Given the description of an element on the screen output the (x, y) to click on. 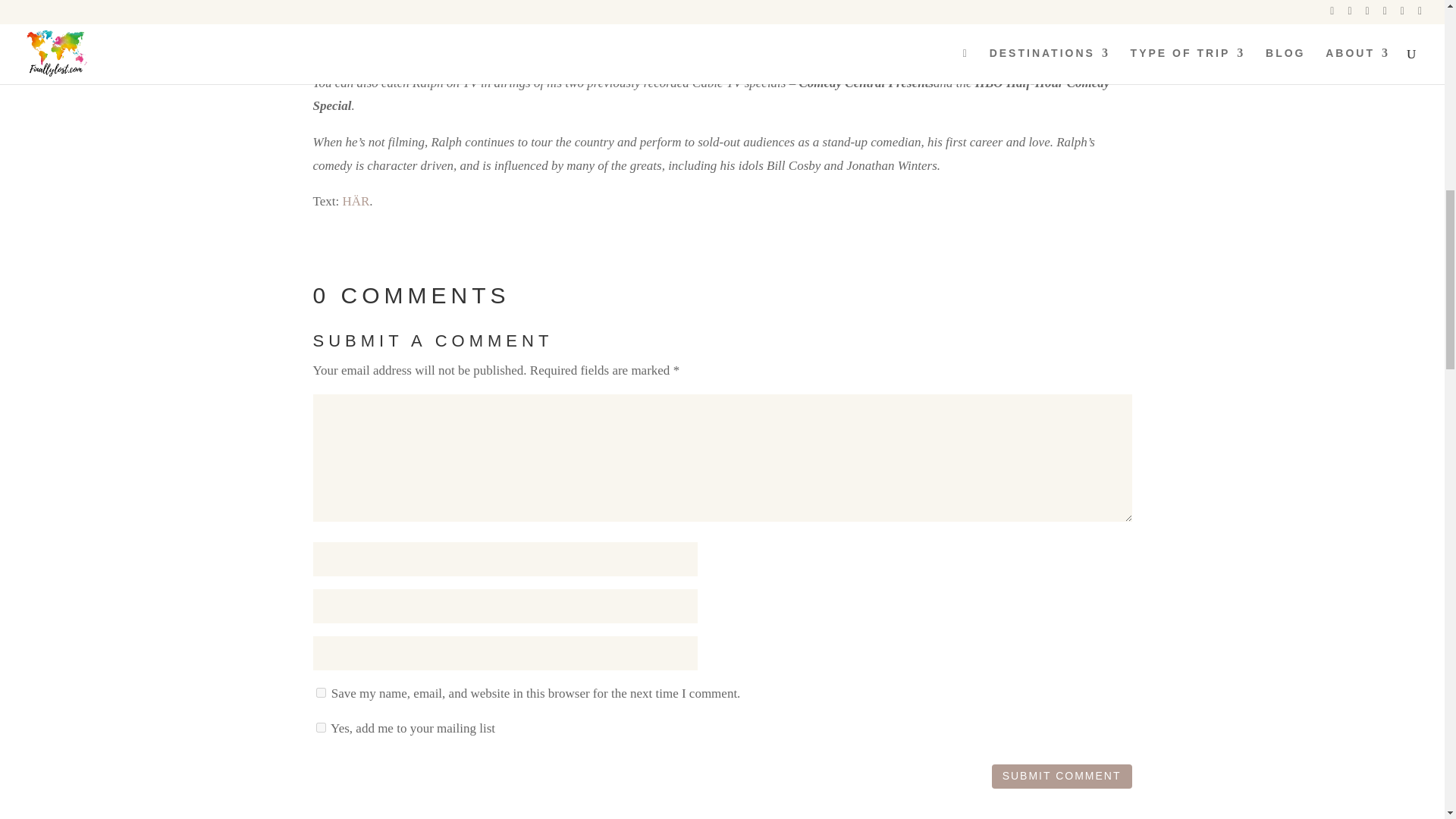
yes (319, 692)
1 (319, 727)
